Given the description of an element on the screen output the (x, y) to click on. 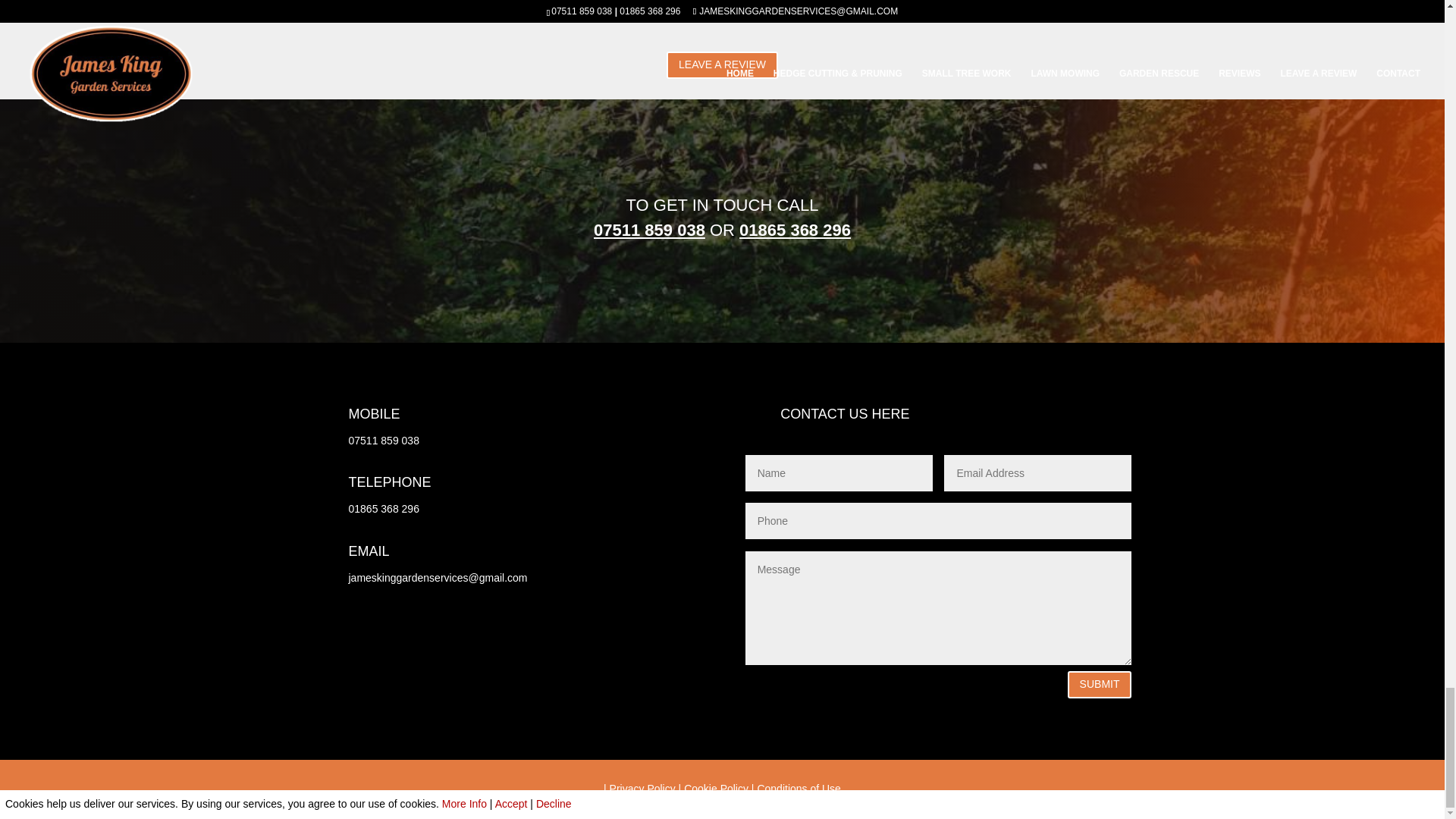
Conditions of Use (799, 788)
07511 859 038 (649, 229)
Privacy Policy (642, 788)
01865 368 296 (384, 508)
07511 859 038 (384, 440)
Cookie Policy (716, 788)
SUBMIT (1099, 684)
LEAVE A REVIEW (721, 64)
01865 368 296 (794, 229)
